Given the description of an element on the screen output the (x, y) to click on. 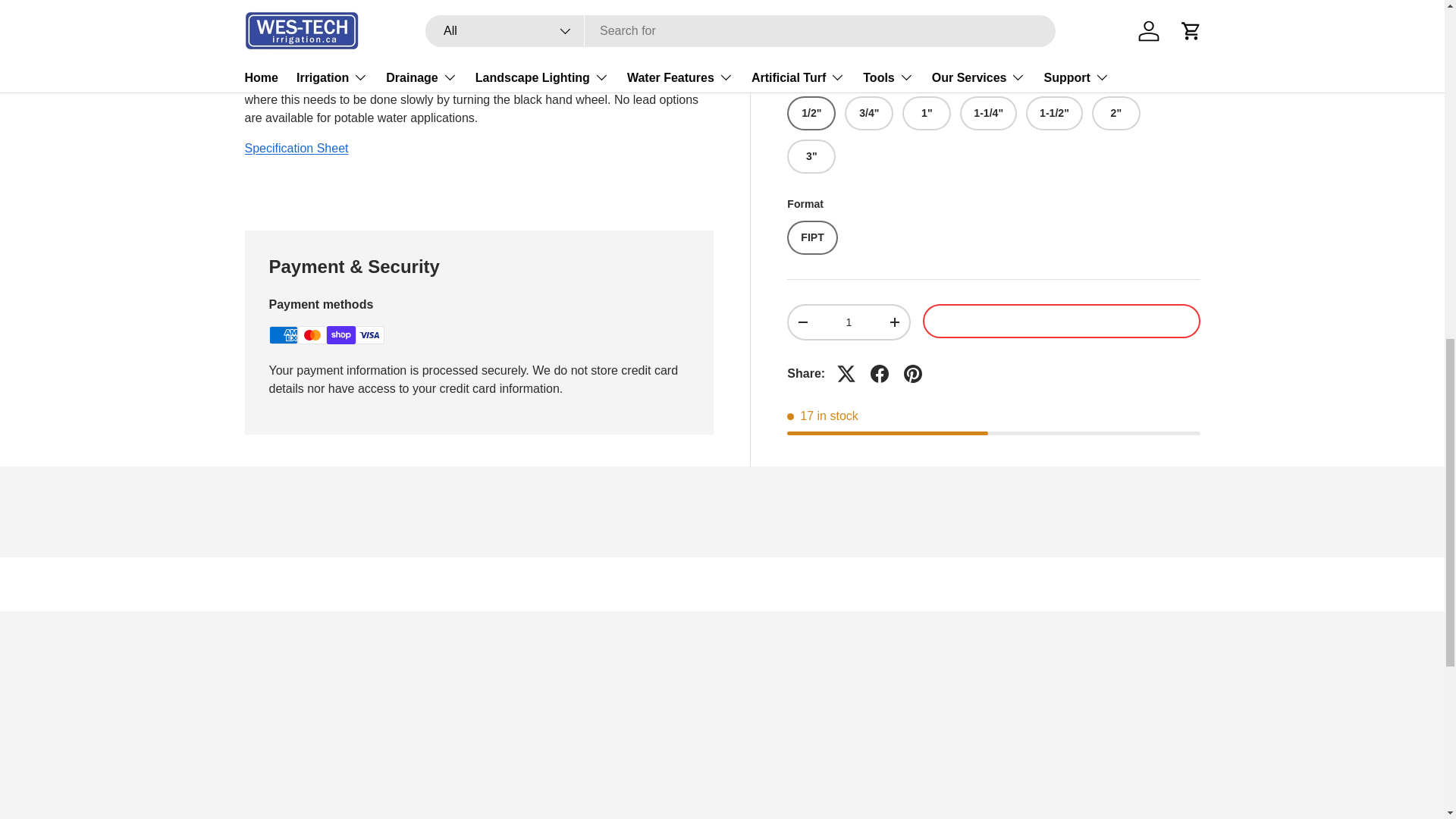
American Express (282, 334)
Visa (369, 334)
Mastercard (311, 334)
Shop Pay (340, 334)
